Given the description of an element on the screen output the (x, y) to click on. 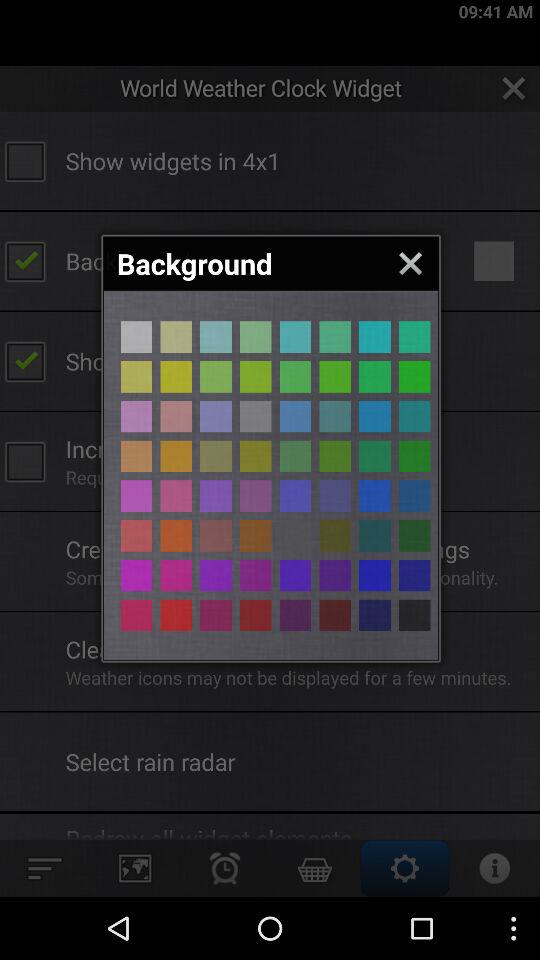
select dark blue background color (374, 615)
